Given the description of an element on the screen output the (x, y) to click on. 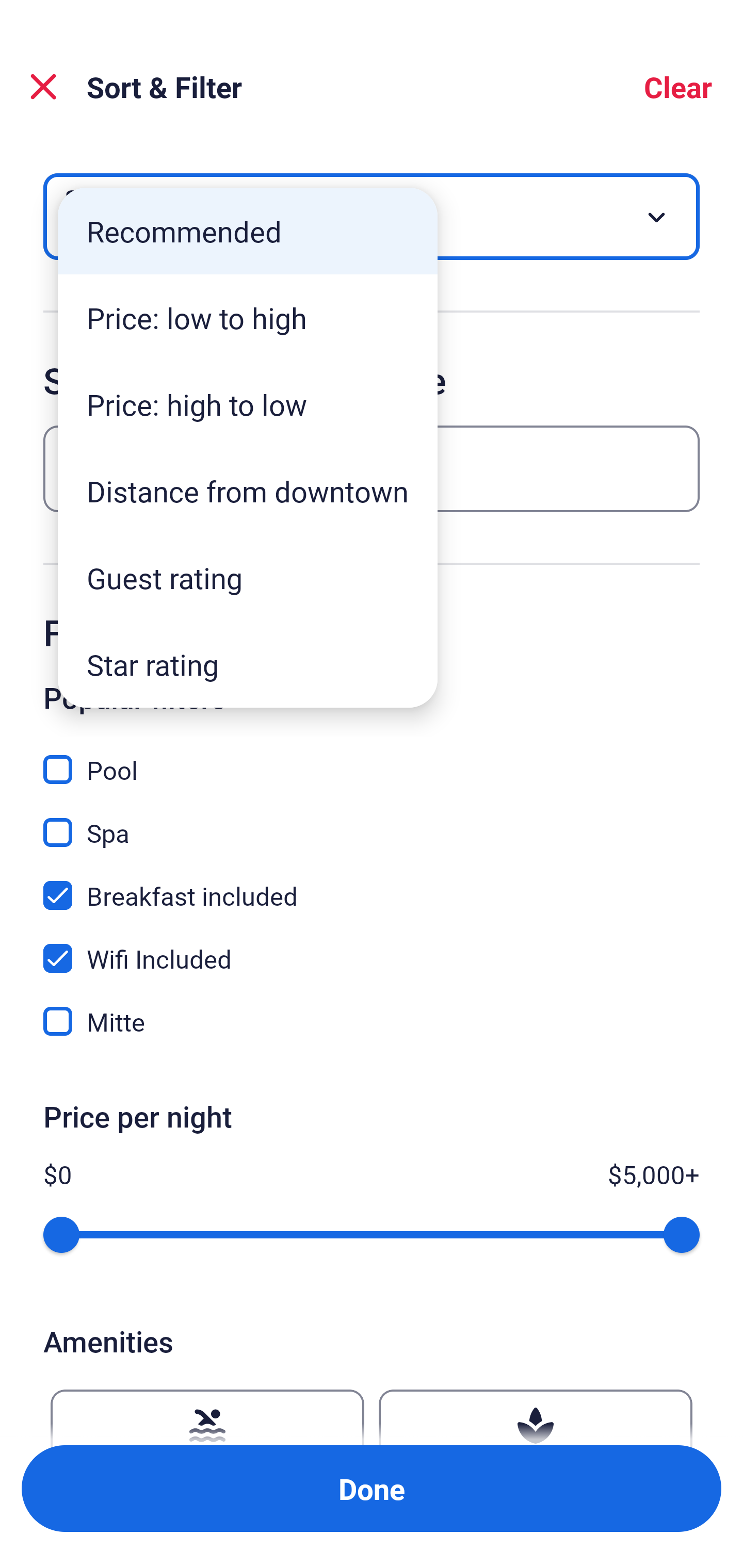
Price: low to high (247, 317)
Price: high to low (247, 404)
Distance from downtown (247, 491)
Guest rating (247, 577)
Star rating (247, 663)
